Given the description of an element on the screen output the (x, y) to click on. 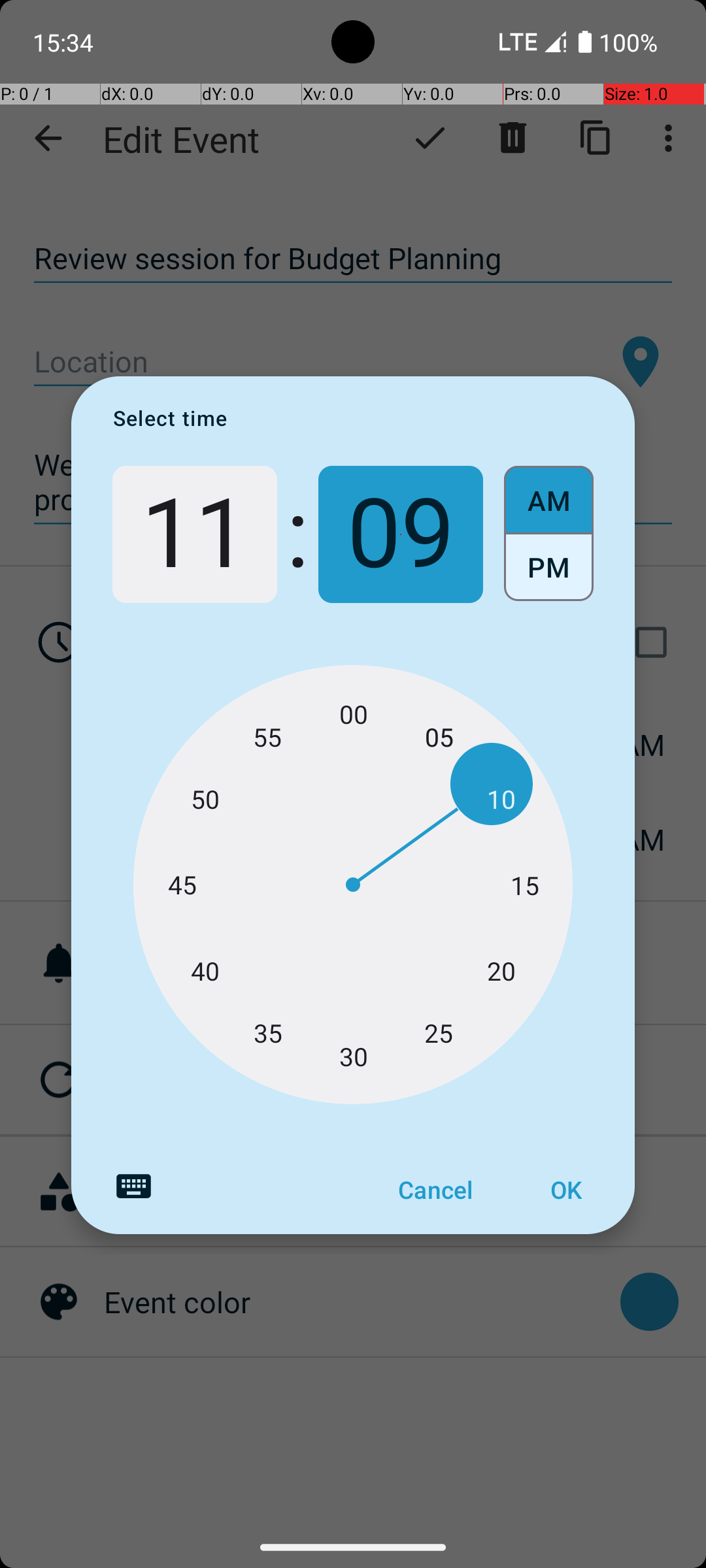
09 Element type: android.view.View (400, 534)
